Given the description of an element on the screen output the (x, y) to click on. 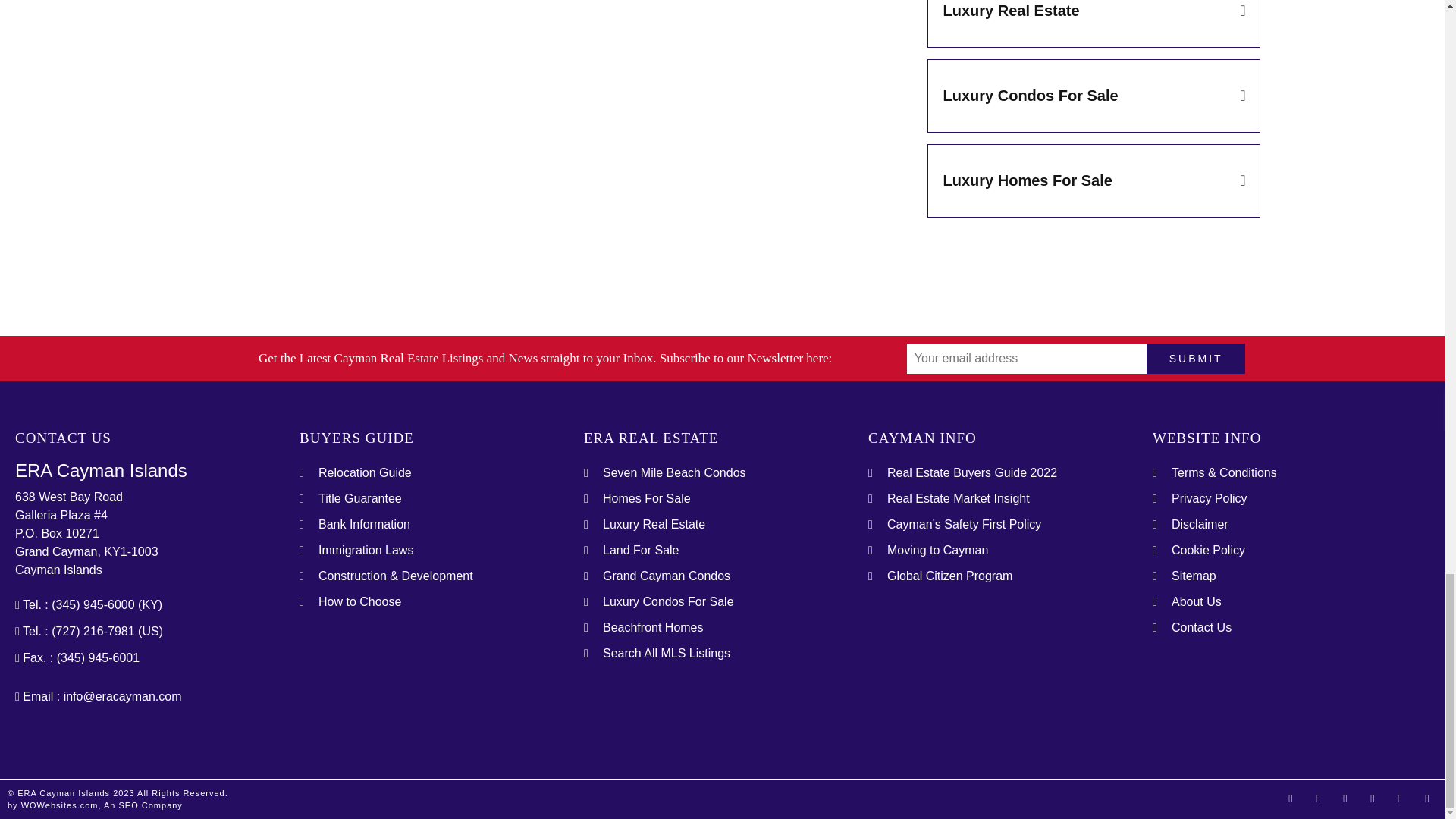
Submit (1196, 358)
